Given the description of an element on the screen output the (x, y) to click on. 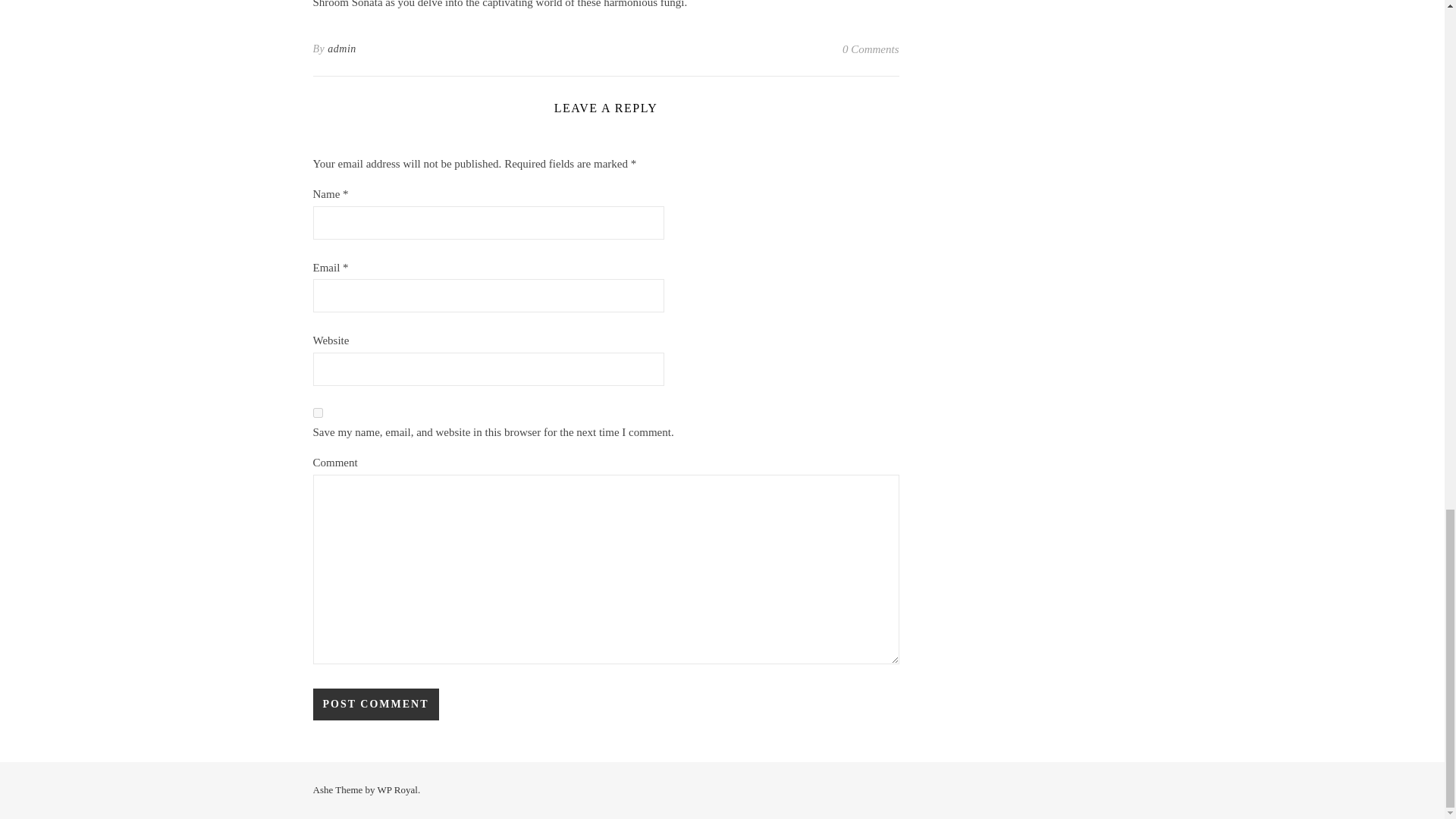
yes (317, 412)
0 Comments (871, 48)
admin (341, 48)
Post Comment (375, 704)
Post Comment (375, 704)
Posts by admin (341, 48)
